Given the description of an element on the screen output the (x, y) to click on. 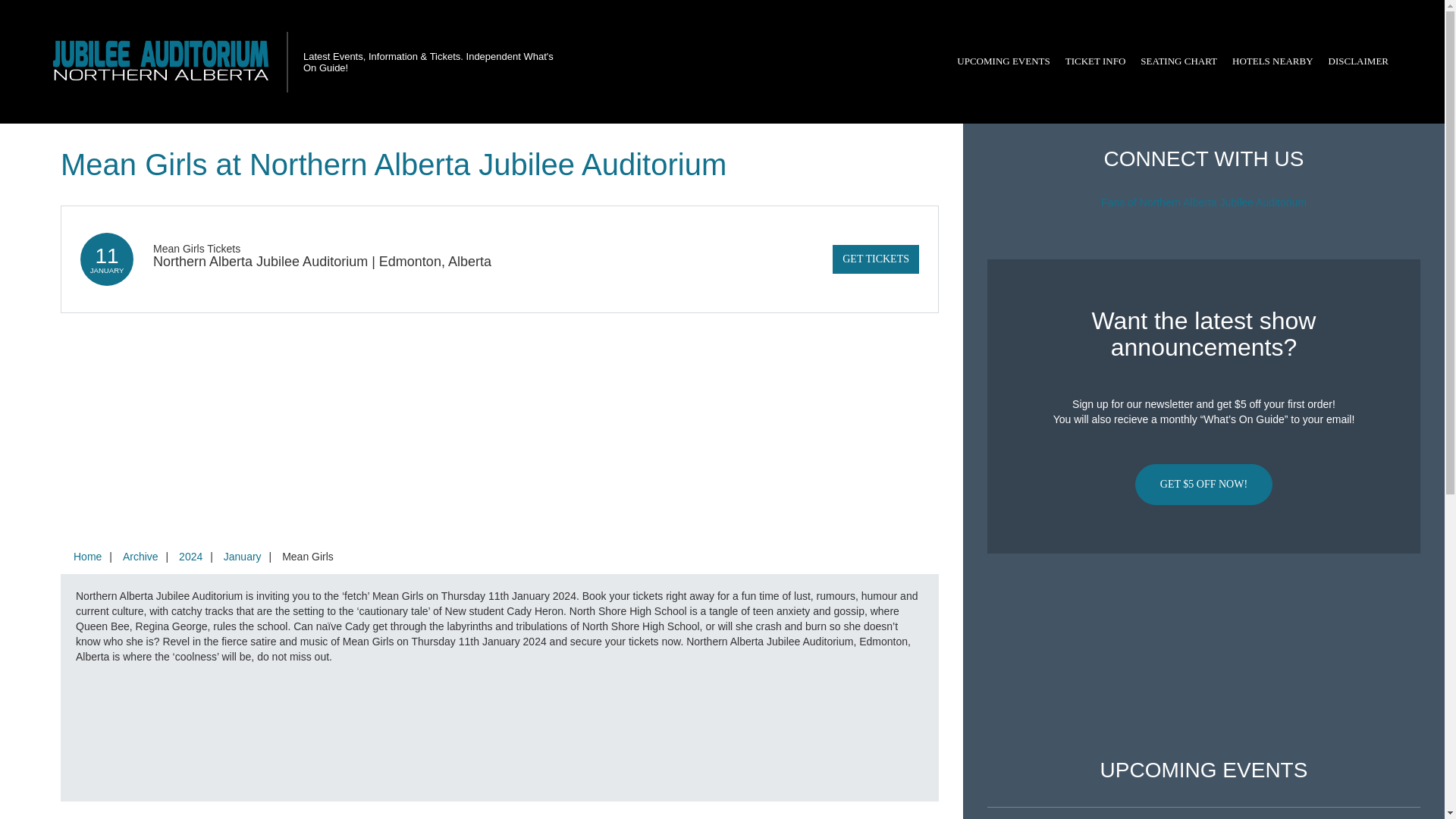
Archive (140, 556)
Home (87, 556)
Fans of Northern Alberta Jubilee Auditorium (1203, 202)
2024 (190, 556)
HOTELS NEARBY (1272, 61)
TICKET INFO (1096, 61)
Advertisement (1204, 655)
GET TICKETS (875, 258)
SEATING CHART (1178, 61)
UPCOMING EVENTS (1003, 61)
DISCLAIMER (1358, 61)
Mean Girls Tickets (196, 248)
January (242, 556)
